Given the description of an element on the screen output the (x, y) to click on. 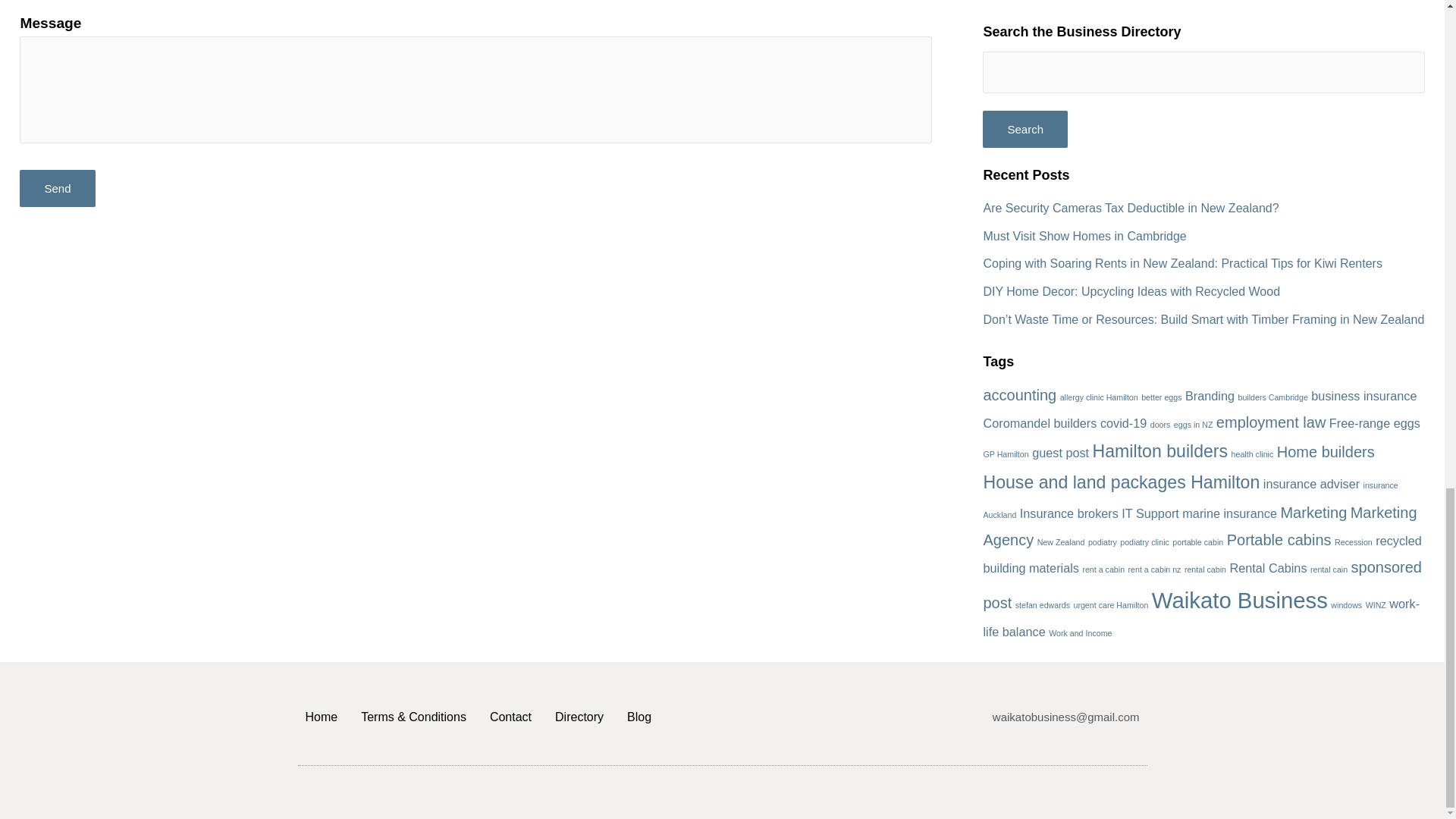
Search (1024, 129)
Send (57, 188)
Search (1024, 129)
Send (57, 188)
